Given the description of an element on the screen output the (x, y) to click on. 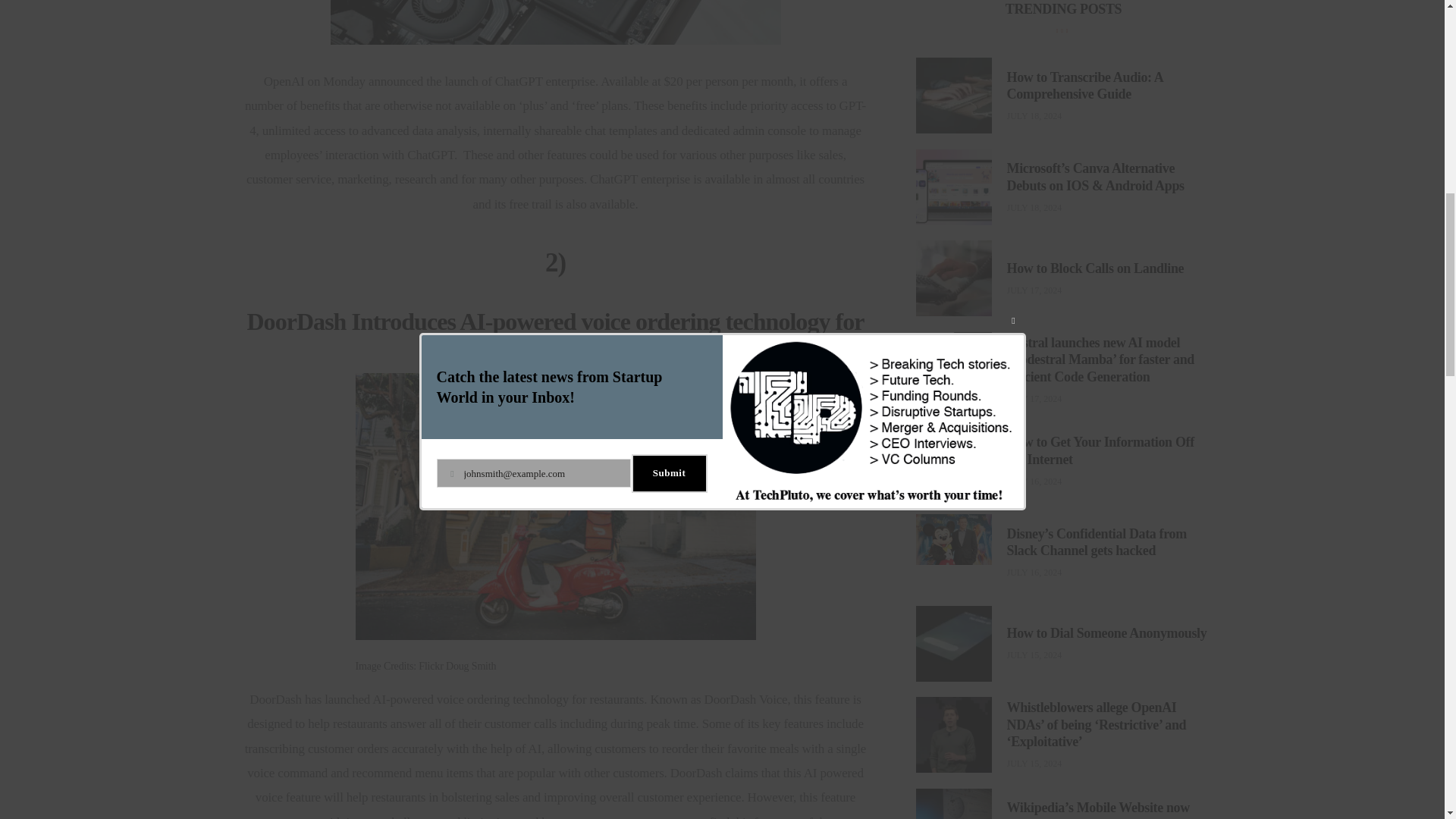
Get the latest kitchen gadgets (979, 617)
